Given the description of an element on the screen output the (x, y) to click on. 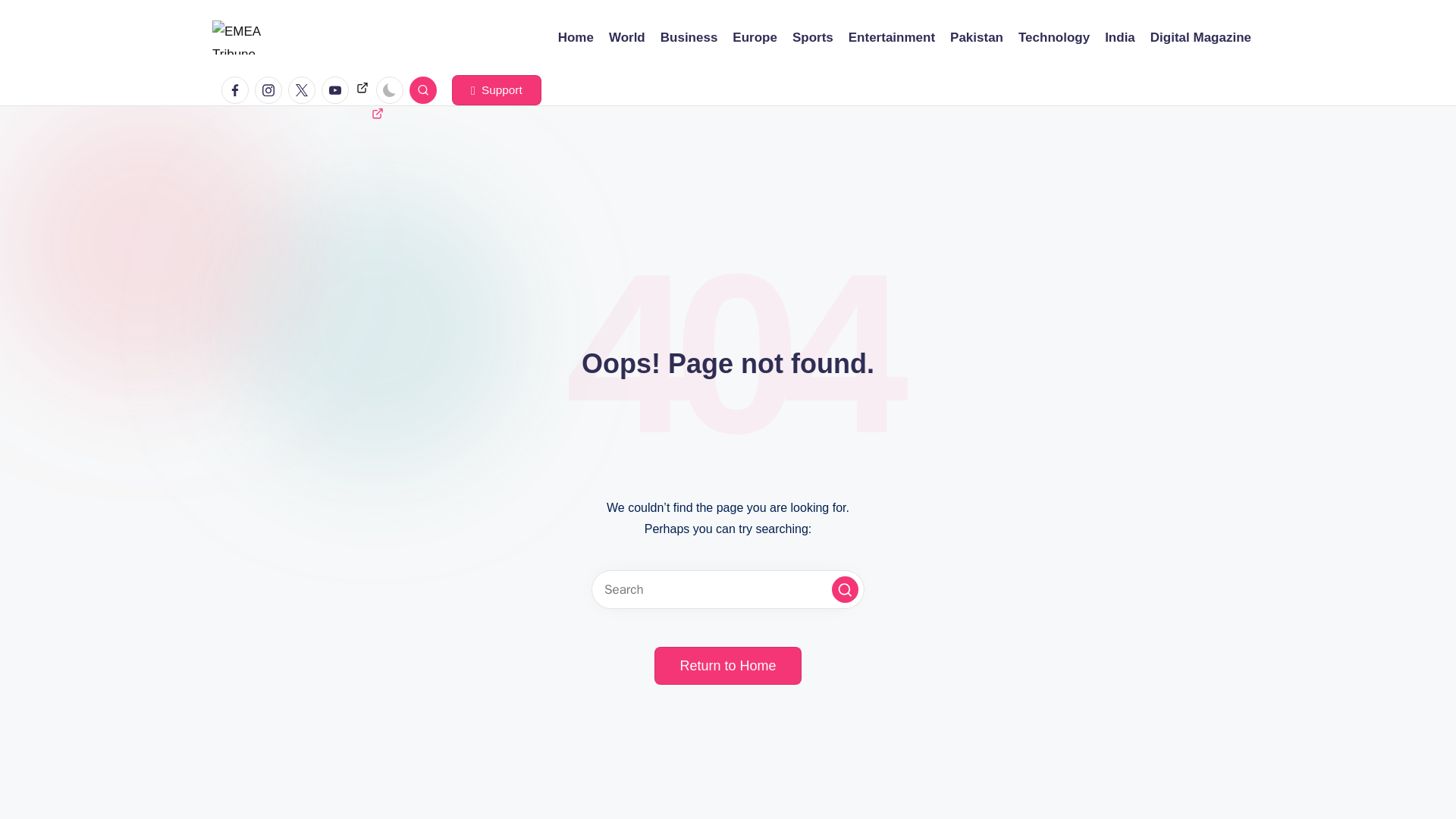
World (626, 37)
Return to Home (726, 665)
Europe (754, 37)
youtube (338, 90)
facebook (237, 90)
Sports (812, 37)
Youtube (335, 90)
Facebook (234, 90)
Business (689, 37)
instagram (271, 90)
